Given the description of an element on the screen output the (x, y) to click on. 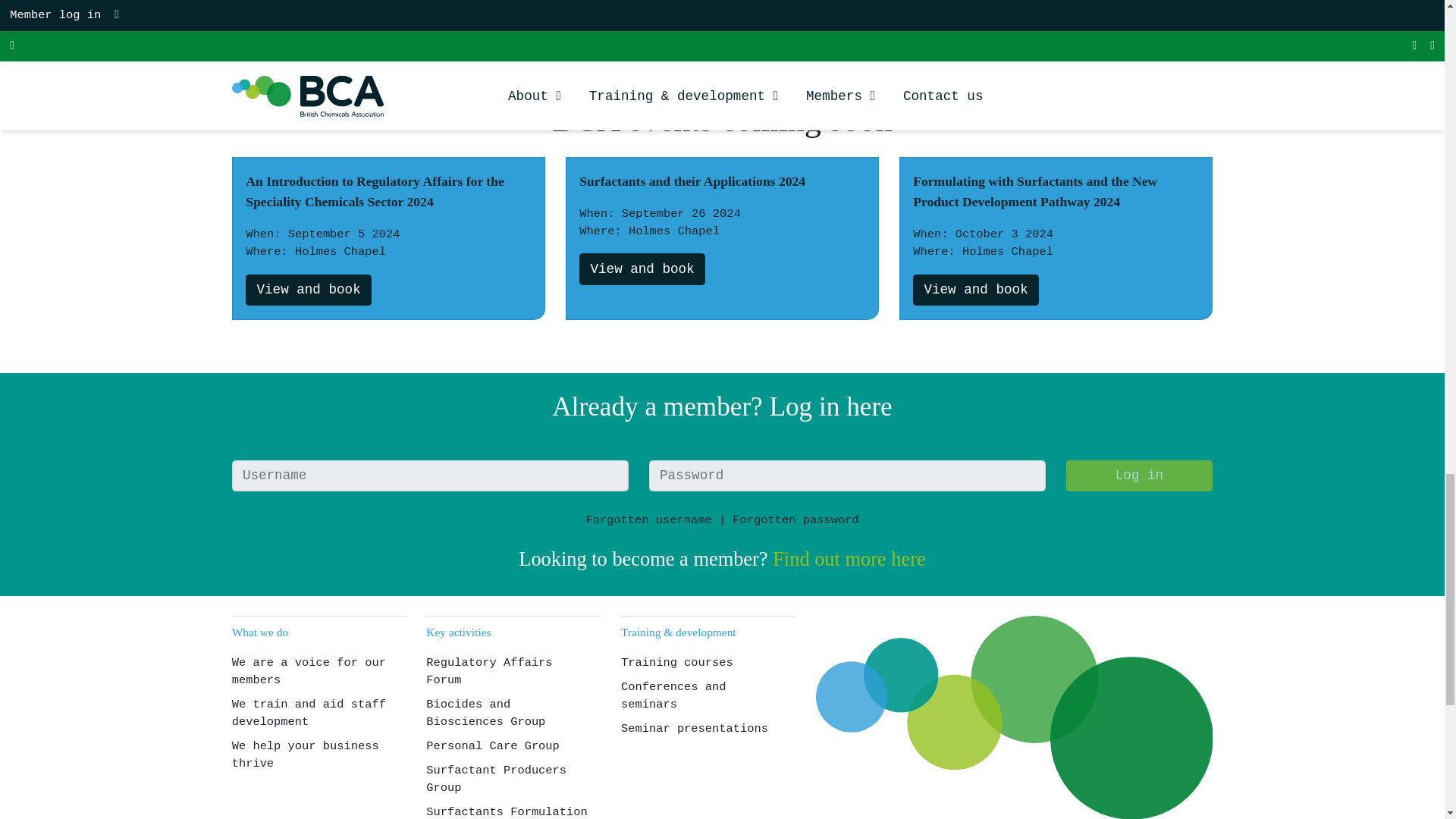
Water Treatment Group (1111, 24)
Surfactants Formulation Group (888, 24)
Surfactant Producers Group (667, 24)
